Given the description of an element on the screen output the (x, y) to click on. 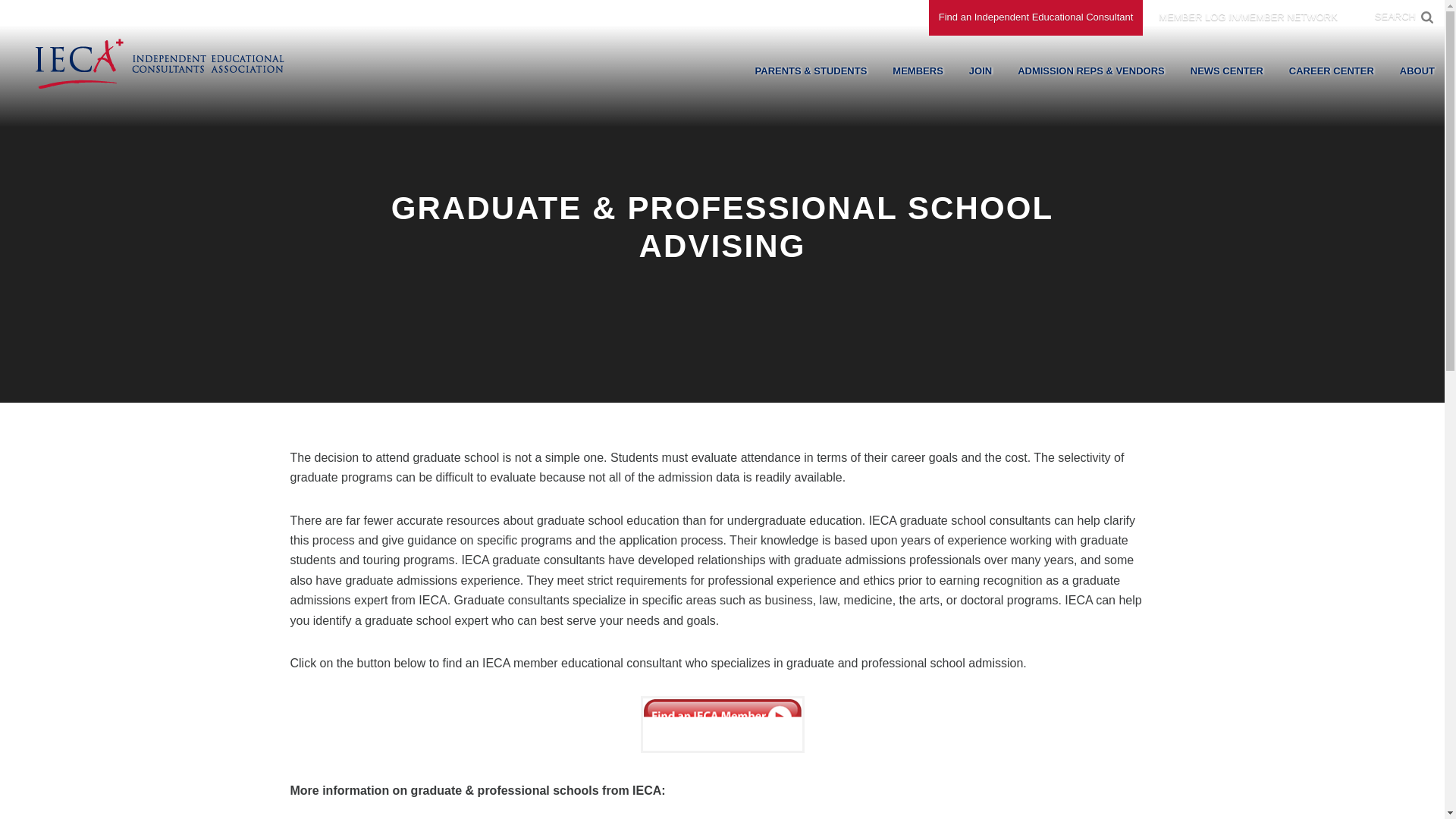
SEARCH (1395, 16)
NEWS CENTER (1226, 71)
MEMBERS (917, 71)
CAREER CENTER (1331, 71)
JOIN (980, 71)
Find an Independent Educational Consultant (1035, 18)
